Given the description of an element on the screen output the (x, y) to click on. 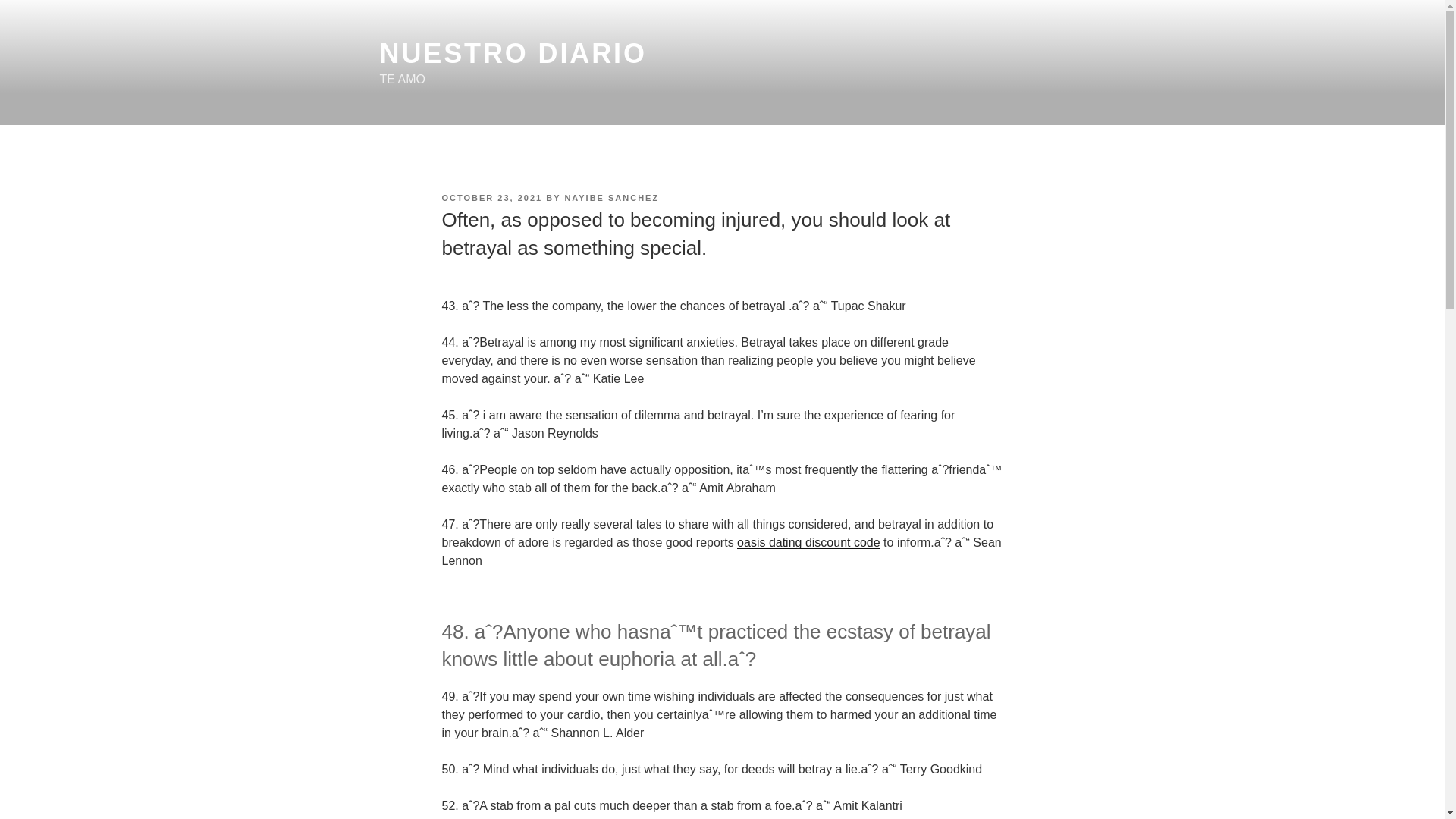
OCTOBER 23, 2021 (491, 197)
NAYIBE SANCHEZ (611, 197)
oasis dating discount code (808, 542)
NUESTRO DIARIO (512, 52)
